Given the description of an element on the screen output the (x, y) to click on. 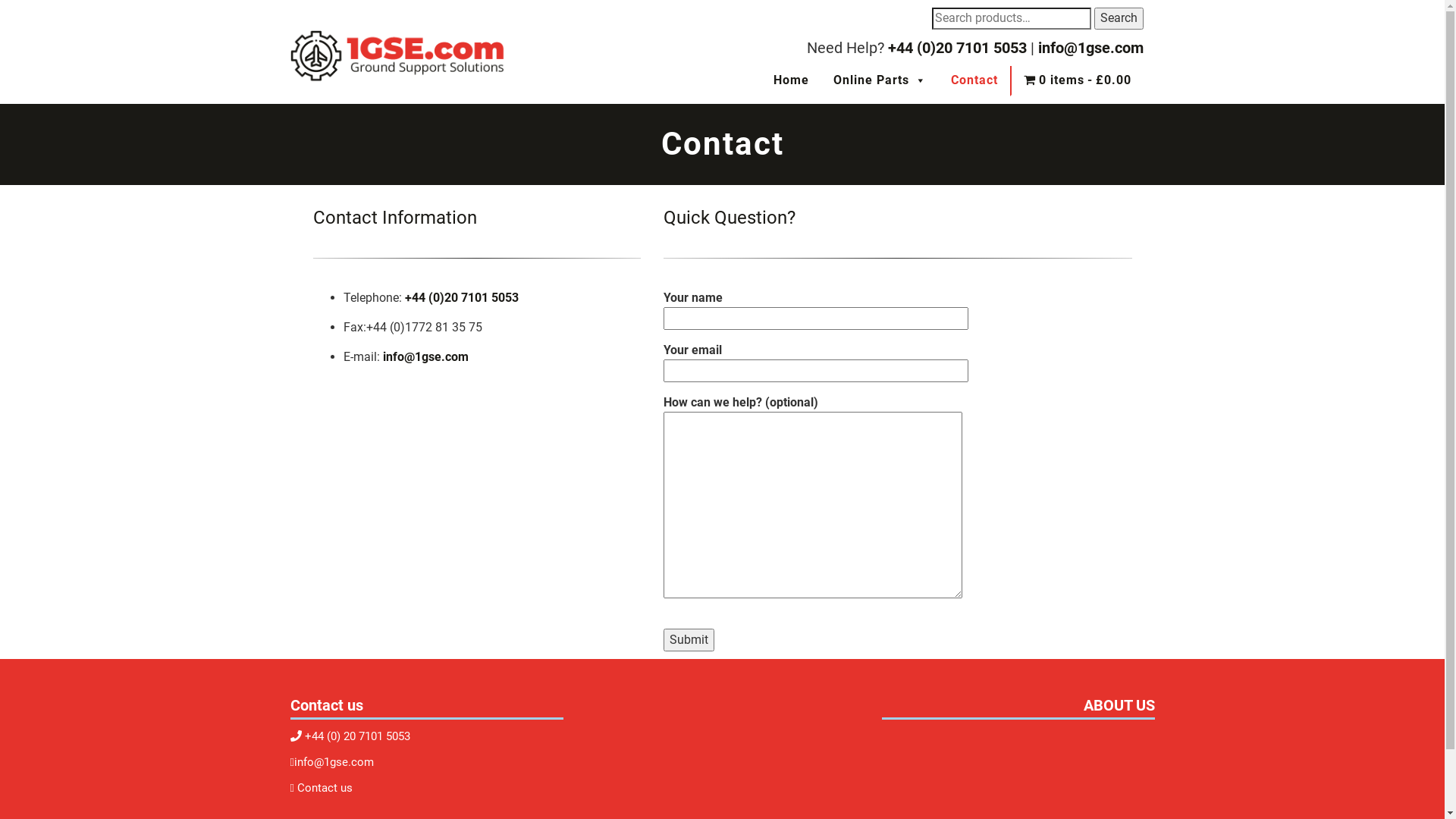
+44 (0) 20 7101 5053 Element type: text (357, 736)
Search Element type: text (1117, 18)
info@1gse.com Element type: text (1089, 47)
Submit Element type: text (688, 639)
+44 (0)20 7101 5053 Element type: text (461, 297)
info@1gse.com Element type: text (424, 356)
Home Element type: text (791, 80)
Contact us Element type: text (324, 787)
info@1gse.com Element type: text (333, 761)
Online Parts Element type: text (879, 80)
+44 (0)20 7101 5053 Element type: text (956, 47)
Contact Element type: text (974, 80)
